Given the description of an element on the screen output the (x, y) to click on. 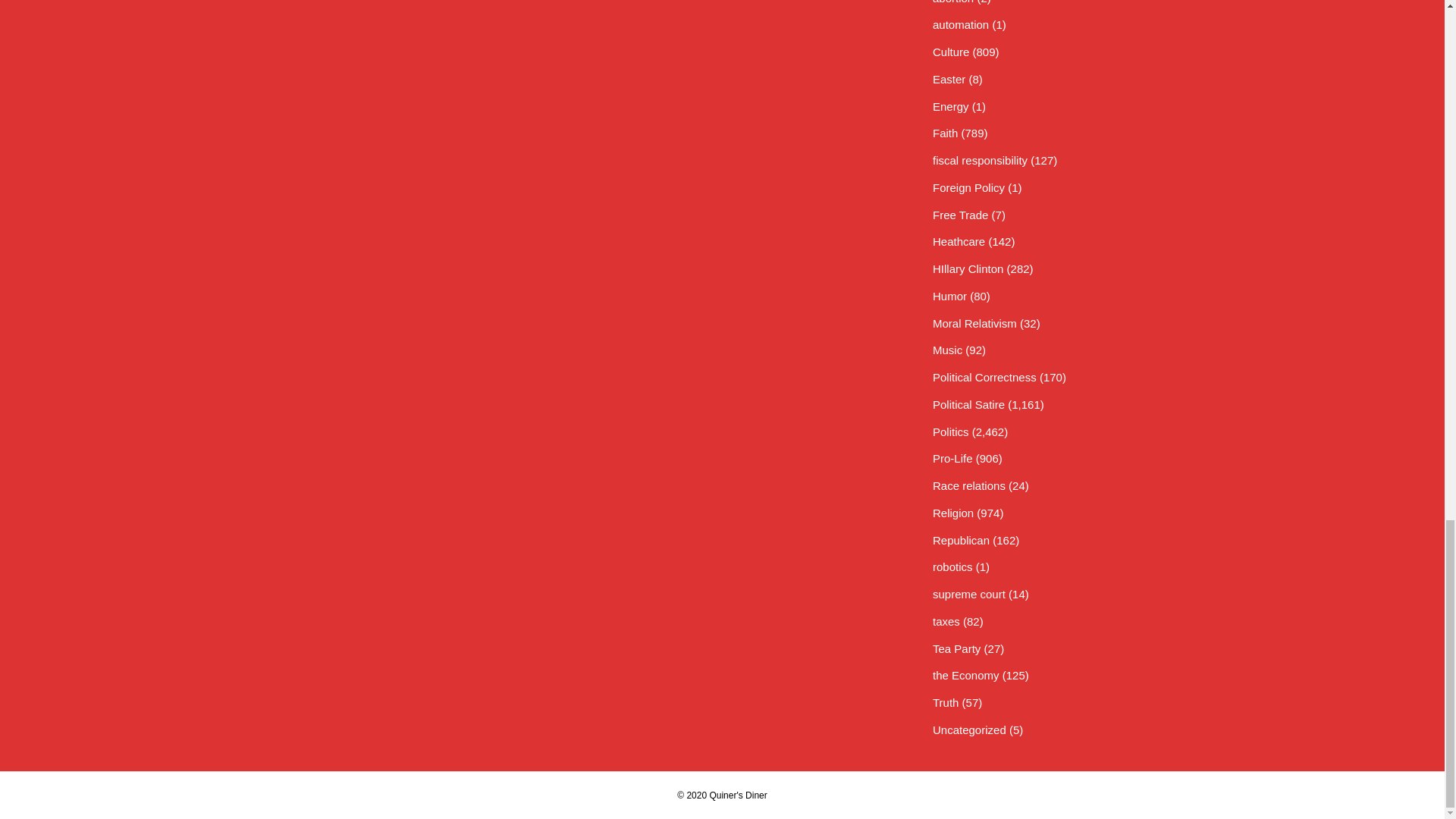
Music (947, 349)
Foreign Policy (968, 187)
Easter (949, 78)
Political Correctness (984, 377)
automation (960, 24)
fiscal responsibility (980, 160)
Faith (945, 132)
Heathcare (959, 241)
Energy (951, 106)
Culture (951, 51)
